Given the description of an element on the screen output the (x, y) to click on. 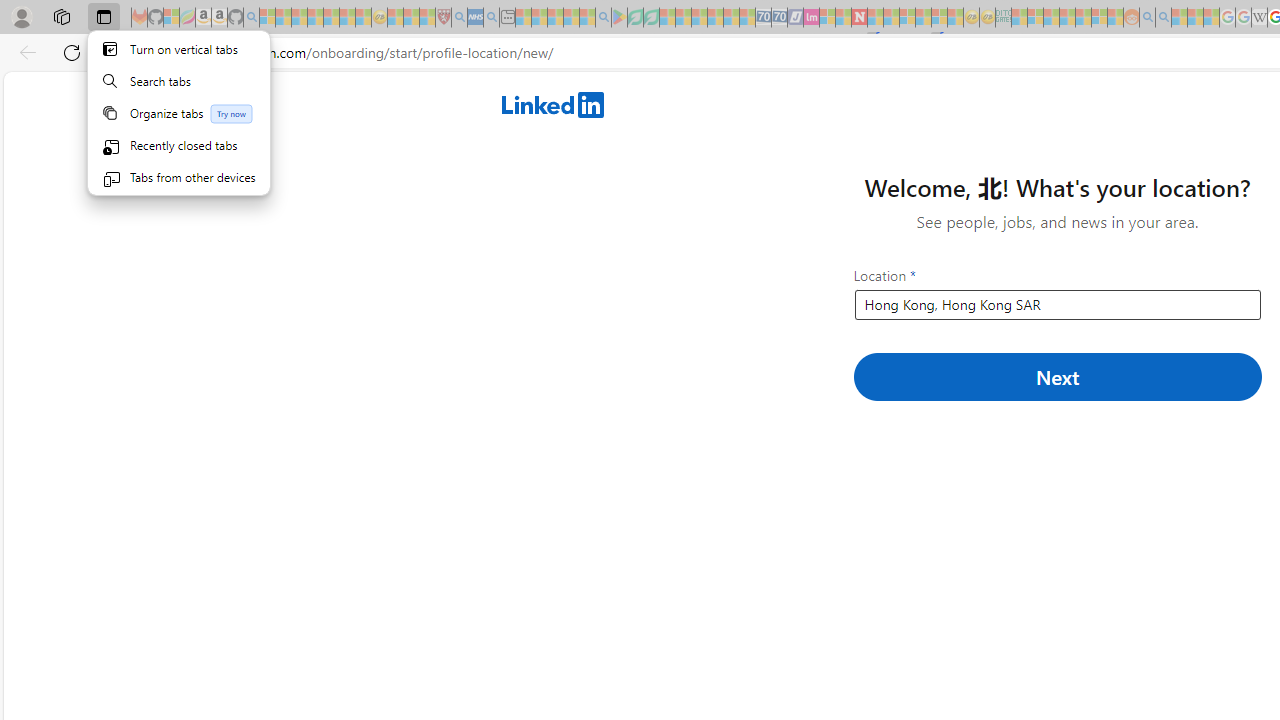
utah sues federal government - Search - Sleeping (491, 17)
Jobs - lastminute.com Investor Portal - Sleeping (811, 17)
New Report Confirms 2023 Was Record Hot | Watch - Sleeping (331, 17)
